Given the description of an element on the screen output the (x, y) to click on. 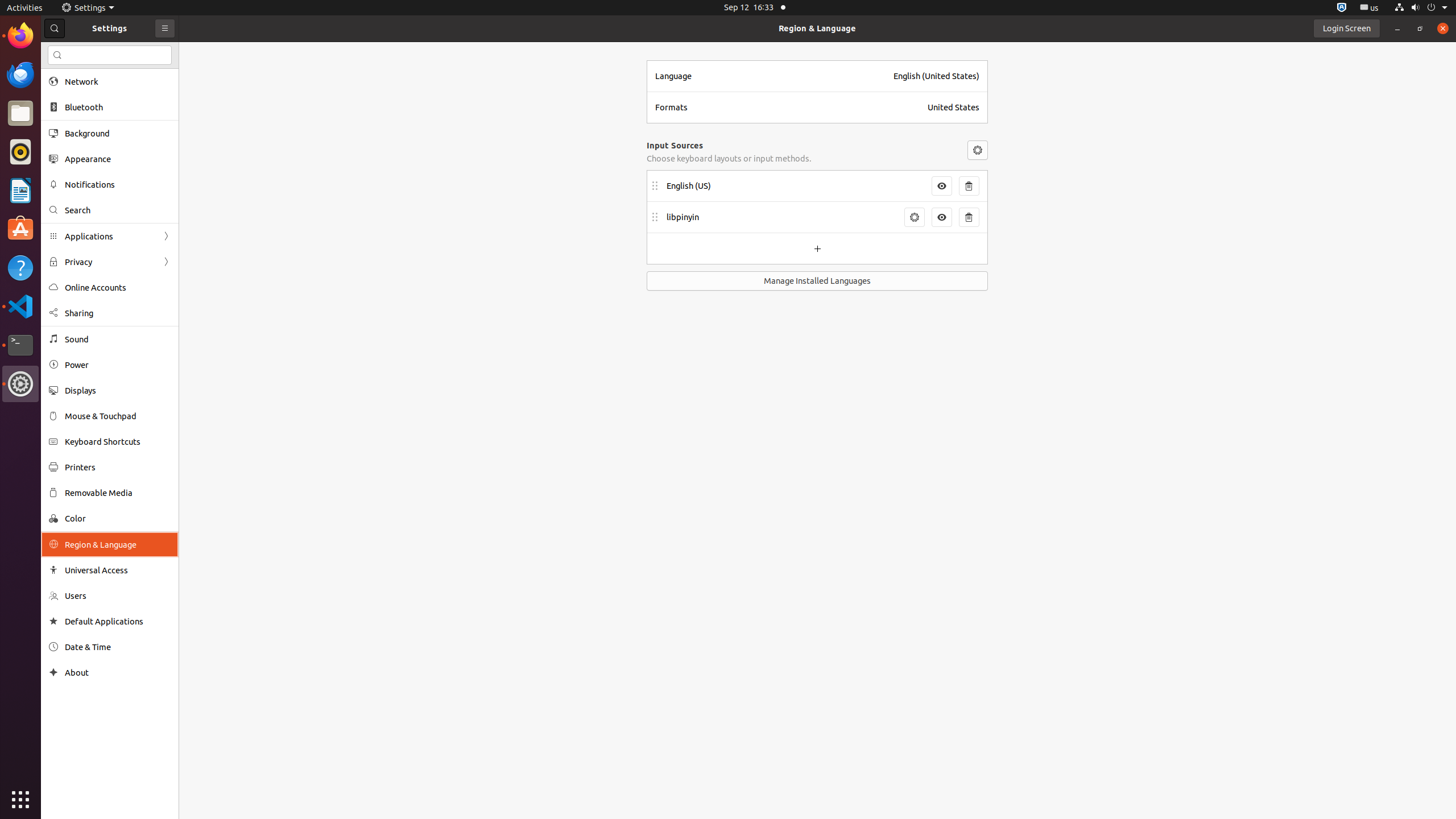
Universal Access Element type: label (117, 570)
English (US) Element type: label (795, 185)
Removable Media Element type: label (117, 492)
Terminal Element type: push-button (20, 344)
